Given the description of an element on the screen output the (x, y) to click on. 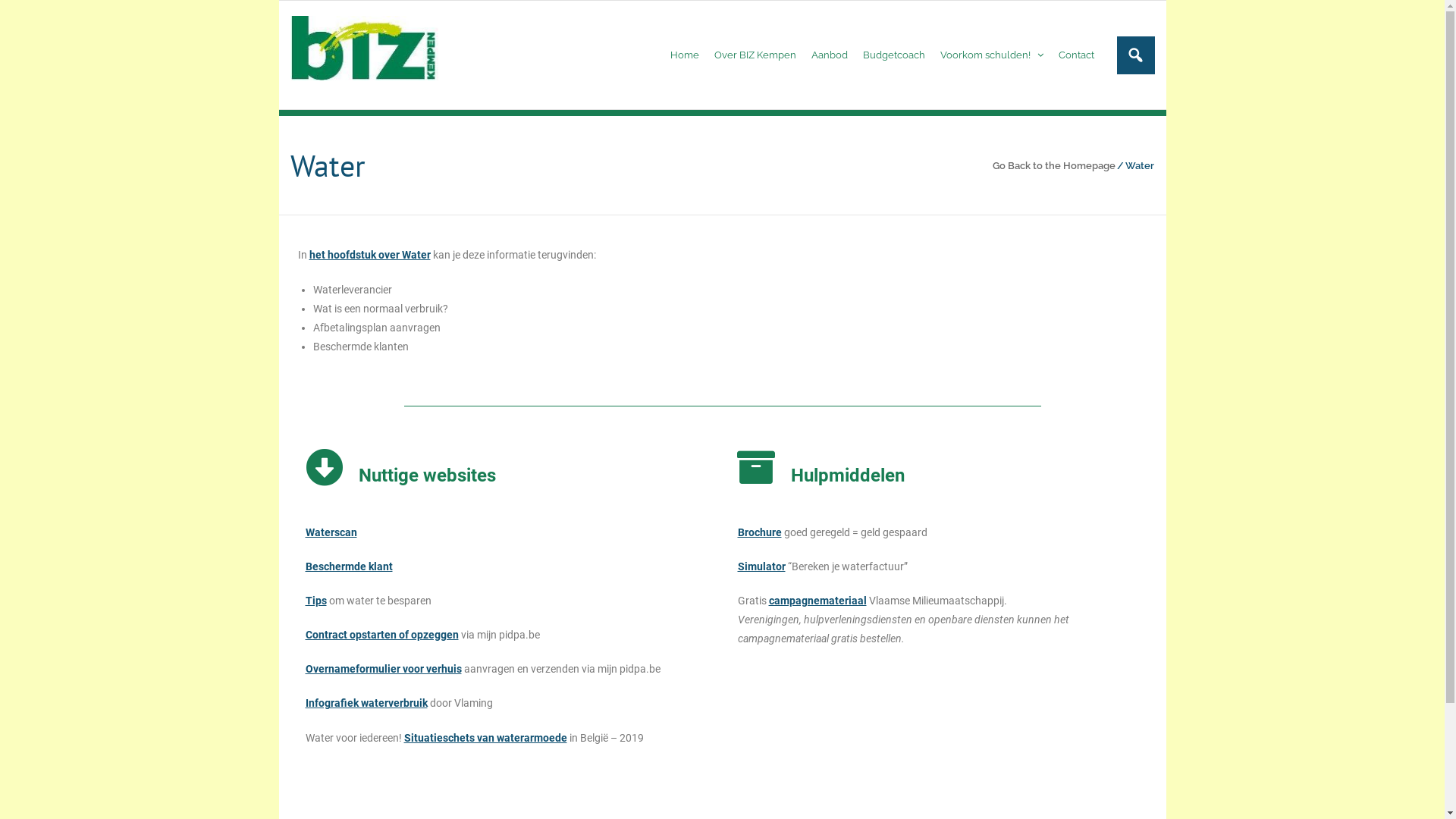
Simulator Element type: text (760, 566)
campagnemateriaal Element type: text (817, 600)
Overnameformulier voor verhuis Element type: text (382, 668)
Waterscan Element type: text (330, 532)
Zoek Element type: text (23, 14)
Situatieschets van waterarmoede Element type: text (484, 737)
Beschermde klant Element type: text (348, 566)
Contract opstarten of opzeggen Element type: text (381, 634)
Tips Element type: text (315, 600)
Over BIZ Kempen Element type: text (754, 54)
Contact Element type: text (1076, 54)
Brochure Element type: text (759, 532)
Infografiek waterverbruik Element type: text (365, 702)
Aanbod Element type: text (829, 54)
Go Back to the Homepage Element type: text (1053, 165)
Home Element type: text (684, 54)
Voorkom schulden!  Element type: text (991, 54)
Budgetcoach Element type: text (893, 54)
het hoofdstuk over Water Element type: text (369, 254)
